Given the description of an element on the screen output the (x, y) to click on. 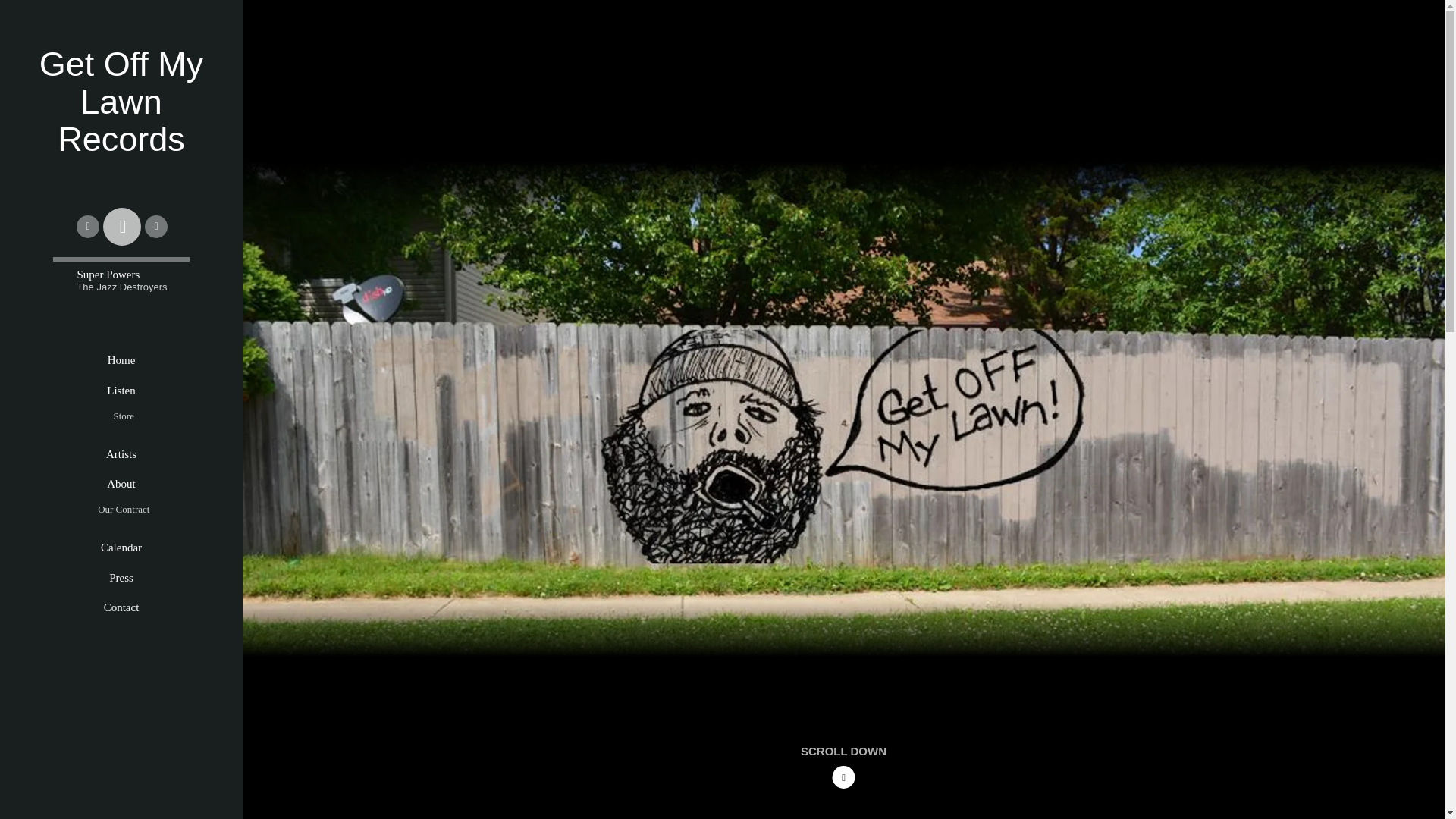
Get Off My Lawn Records (120, 143)
Store (124, 416)
Listen (120, 390)
Home (121, 361)
